Given the description of an element on the screen output the (x, y) to click on. 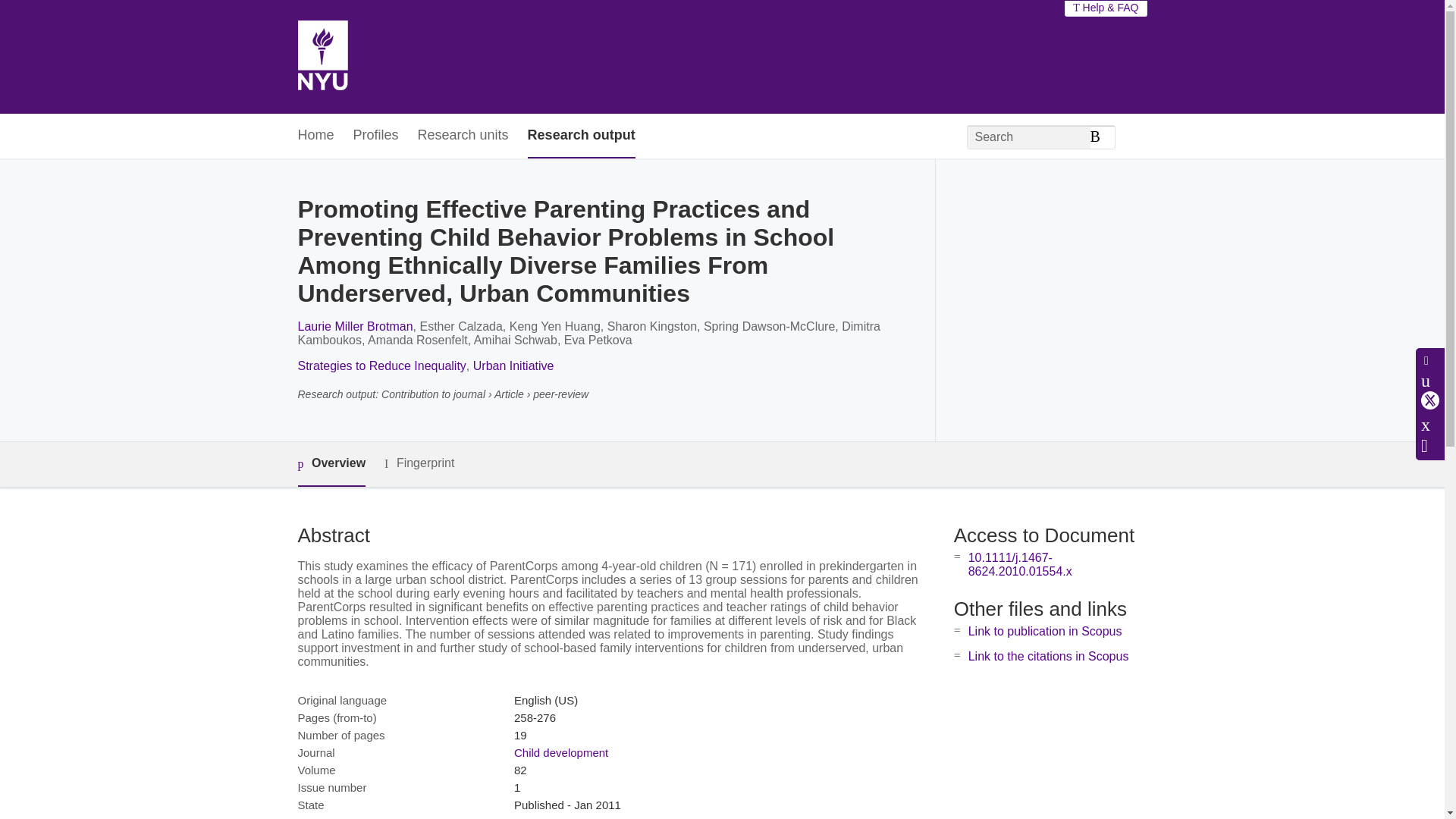
Link to publication in Scopus (1045, 631)
Research output (580, 135)
Profiles (375, 135)
Overview (331, 464)
Strategies to Reduce Inequality (381, 365)
Research units (462, 135)
Urban Initiative (513, 365)
Link to the citations in Scopus (1048, 656)
Laurie Miller Brotman (354, 326)
